Given the description of an element on the screen output the (x, y) to click on. 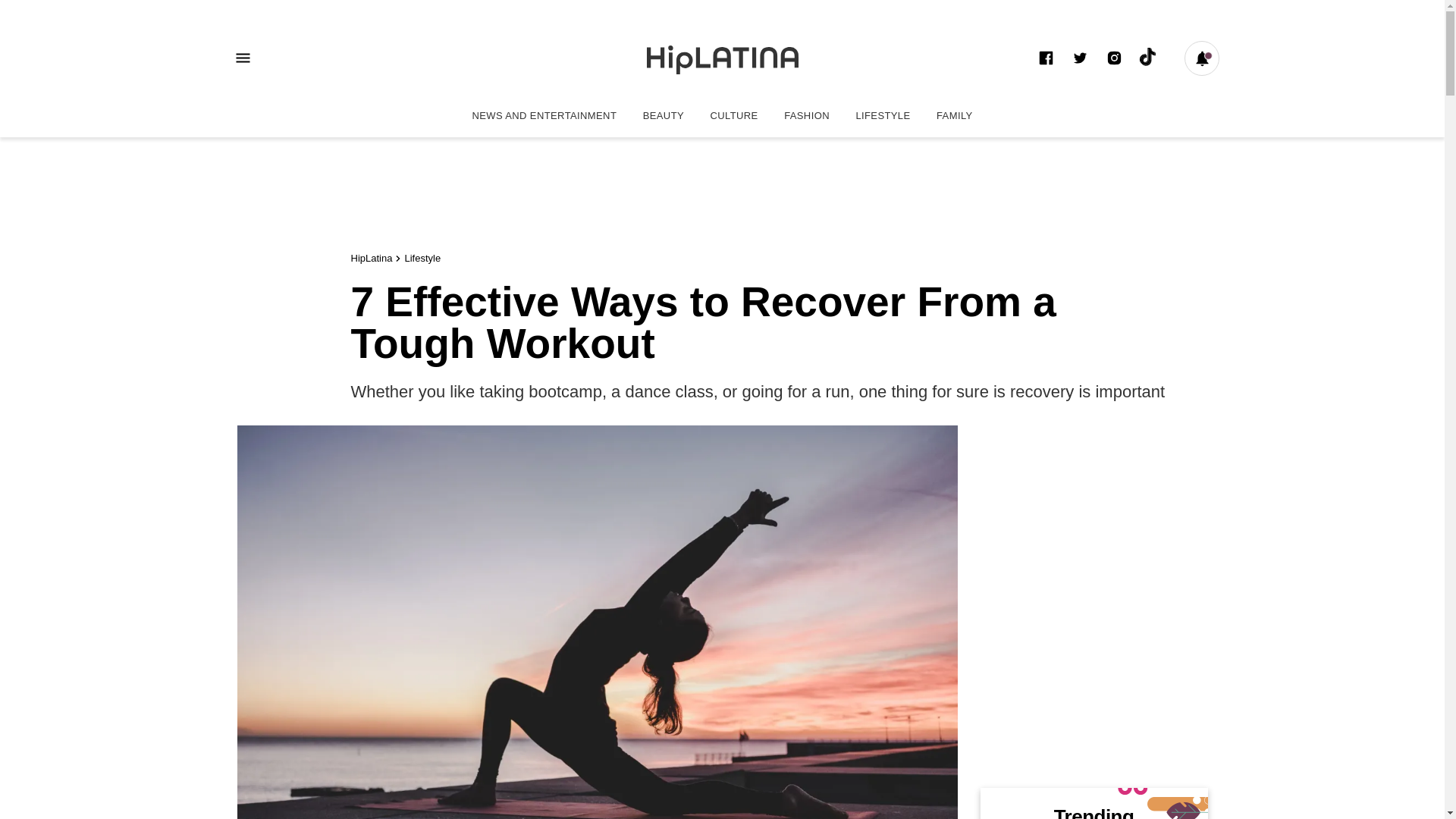
Follow HipLatina on twitter (1079, 57)
NEWS AND ENTERTAINMENT (543, 115)
HipLatina (370, 258)
FASHION (807, 115)
Lifestyle (882, 115)
Seguir a HipLatina en Tiktok (1148, 57)
News and Entertainment (543, 115)
Follow HipLatina on Facebook (1044, 57)
Fashion (807, 115)
Family (954, 115)
Lifestyle (422, 258)
Culture (734, 115)
CULTURE (734, 115)
LIFESTYLE (882, 115)
HipLatina (721, 57)
